Given the description of an element on the screen output the (x, y) to click on. 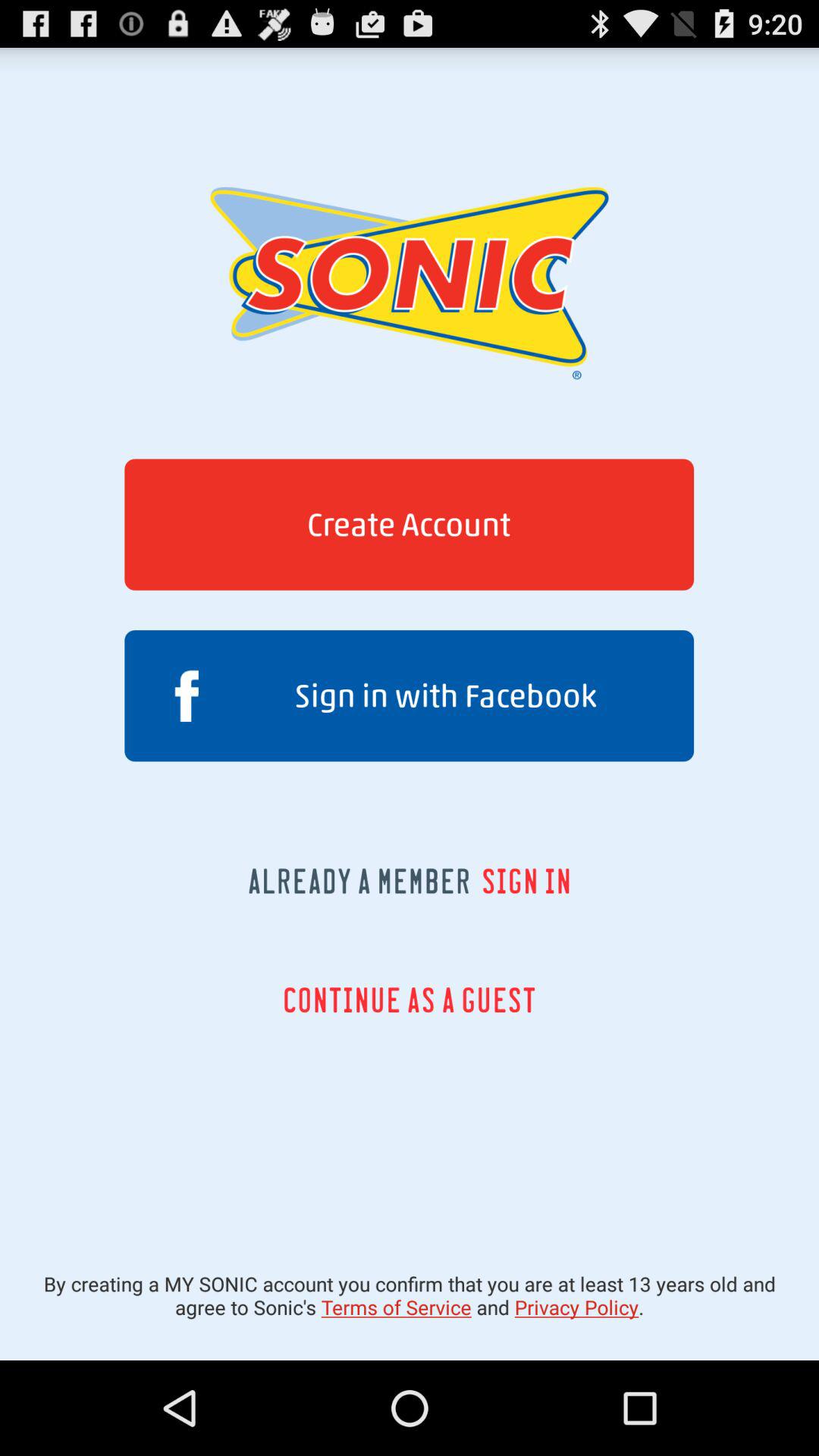
scroll to the create account (408, 524)
